Given the description of an element on the screen output the (x, y) to click on. 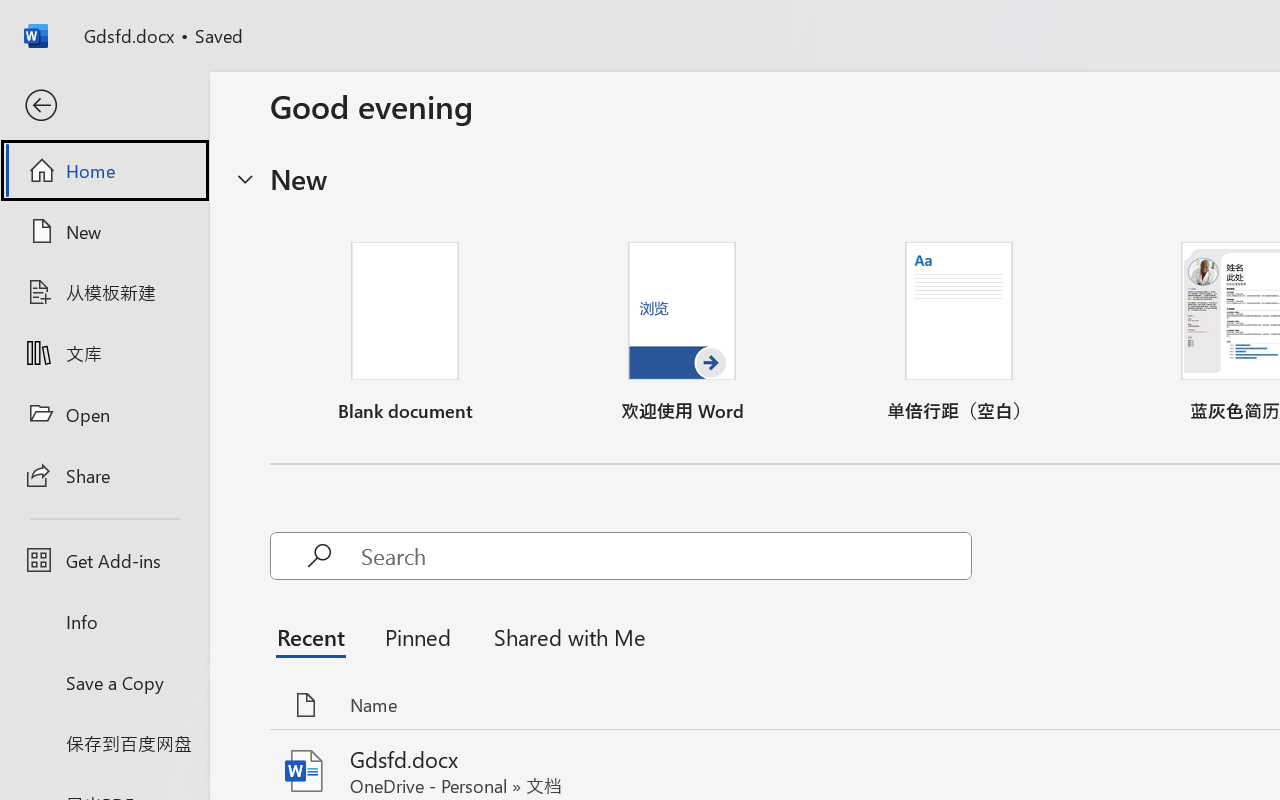
Slide Size (749, 114)
Fonts (502, 112)
Content (282, 94)
Slide Title Slide Layout: used by slide(s) 1 (204, 470)
Slide Master (104, 54)
Slide Title and Content Layout: used by no slides (204, 635)
Rename (148, 115)
